Given the description of an element on the screen output the (x, y) to click on. 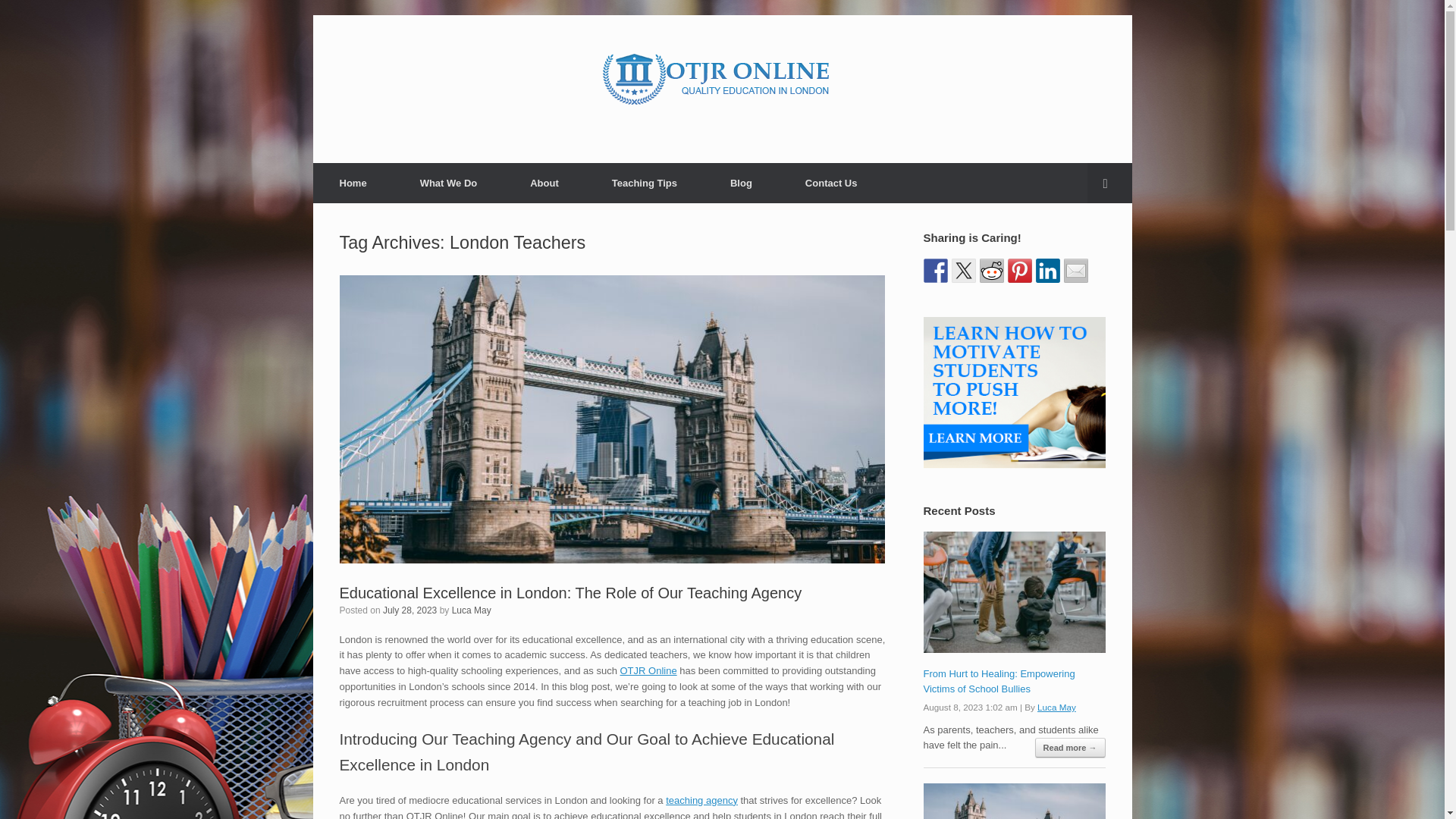
View all posts by Luca May (471, 610)
Luca May (1055, 706)
What We Do (448, 182)
Teaching Tips (644, 182)
Home (353, 182)
Blog (740, 182)
Share on Facebook (935, 269)
OTJR Online (648, 670)
OTJR Online (722, 77)
July 28, 2023 (409, 610)
Contact Us (830, 182)
Share by email (1075, 269)
Pin it with Pinterest (1019, 269)
